Given the description of an element on the screen output the (x, y) to click on. 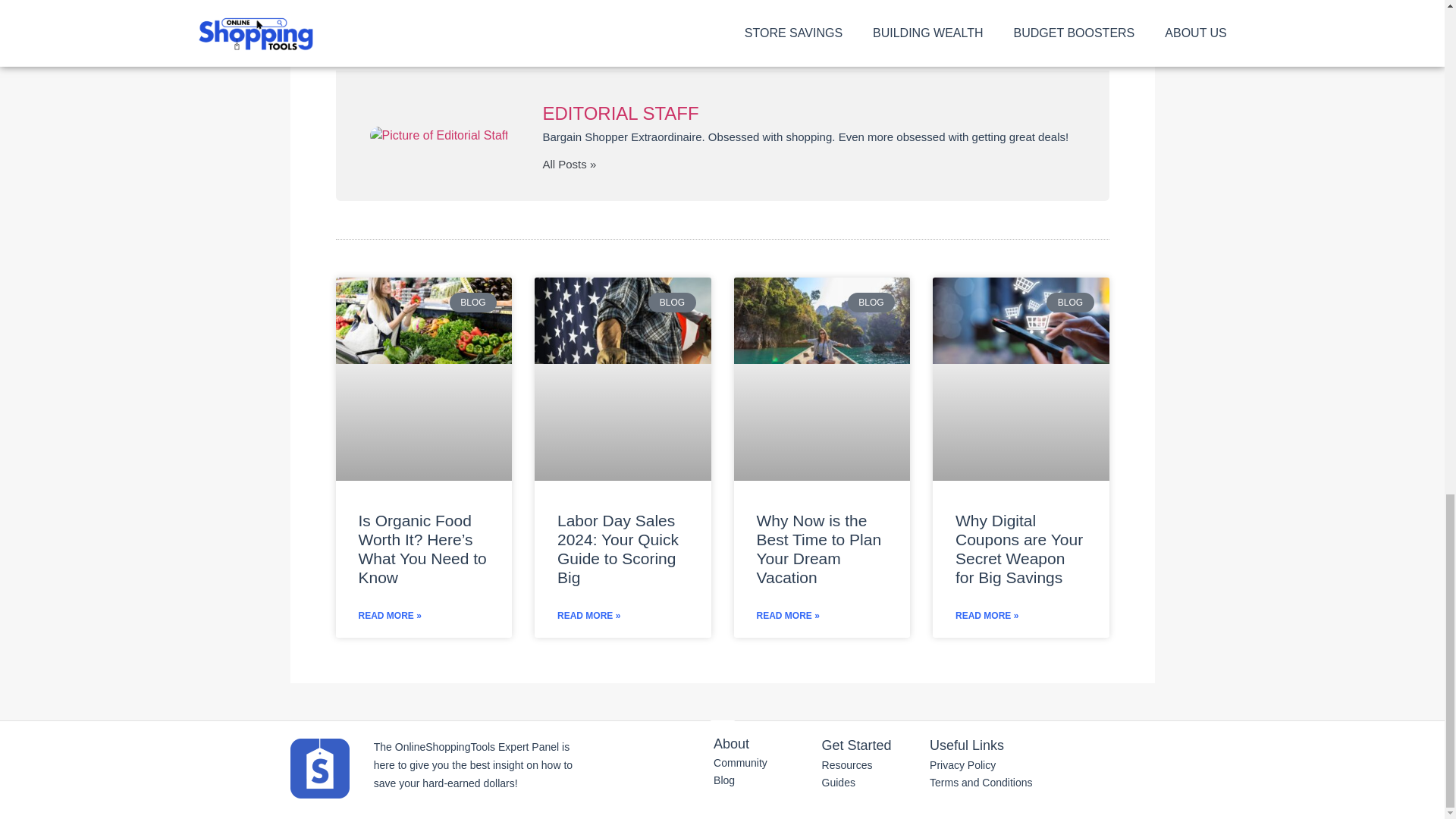
Why Now is the Best Time to Plan Your Dream Vacation (822, 320)
Privacy Policy (984, 765)
Labor Day Sales 2024: Your Quick Guide to Scoring Big (622, 320)
Why Digital Coupons are Your Secret Weapon for Big Savings (1019, 549)
EDITORIAL STAFF (807, 114)
Why Now is the Best Time to Plan Your Dream Vacation (819, 549)
Why Digital Coupons are Your Secret Weapon for Big Savings (1021, 320)
Terms and Conditions (984, 782)
Labor Day Sales 2024: Your Quick Guide to Scoring Big (617, 549)
